Given the description of an element on the screen output the (x, y) to click on. 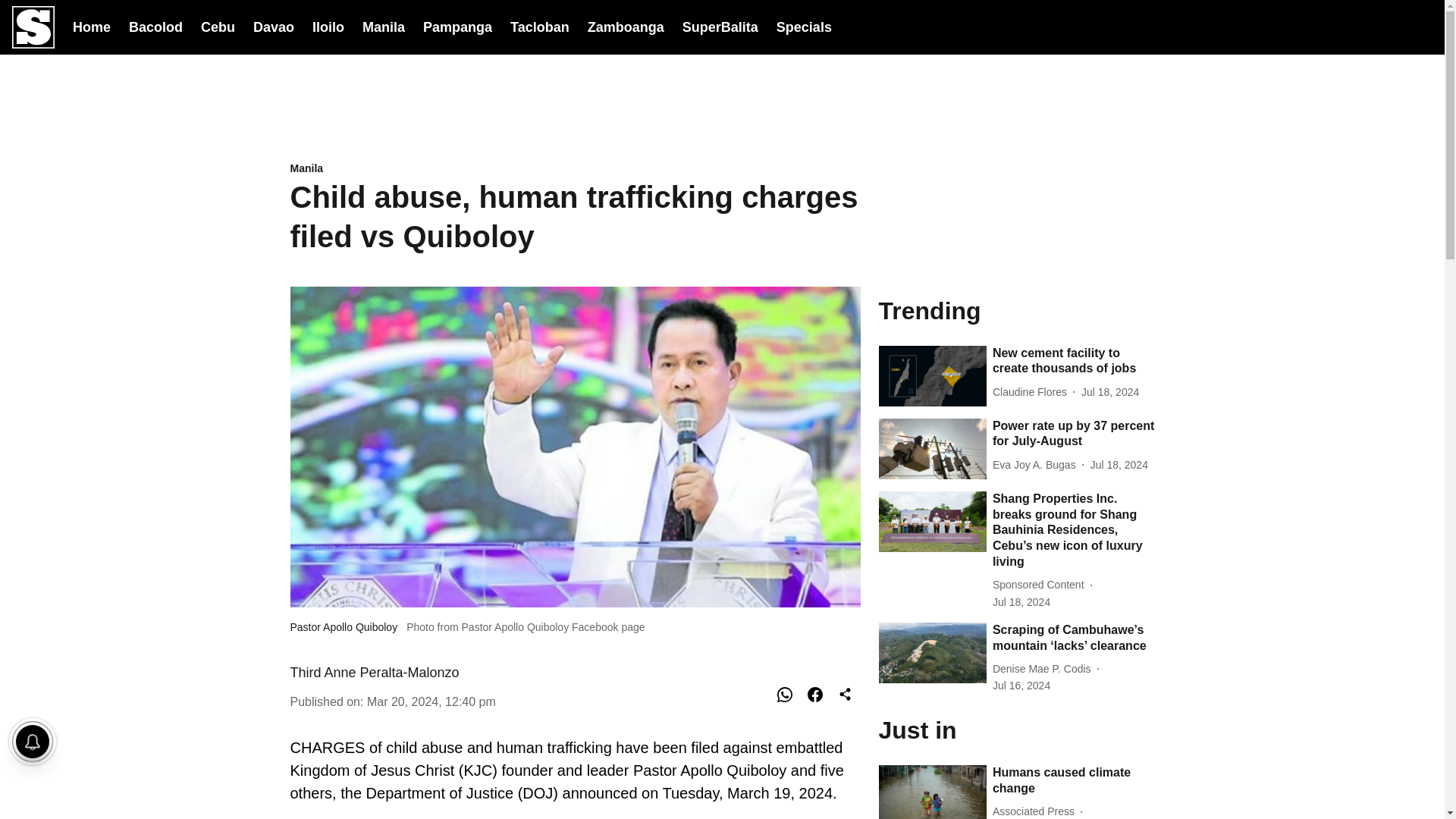
Trending (1015, 309)
Claudine Flores (1032, 392)
Sponsored Content (1041, 584)
2024-07-18 02:10 (1020, 602)
Zamboanga (625, 26)
Iloilo (328, 26)
Bacolod (156, 26)
Davao (273, 26)
2024-03-20 04:40 (431, 700)
2024-07-18 05:27 (1119, 465)
Tacloban (540, 26)
Pampanga (457, 26)
2024-07-16 14:02 (1020, 685)
SuperBalita (720, 27)
